Given the description of an element on the screen output the (x, y) to click on. 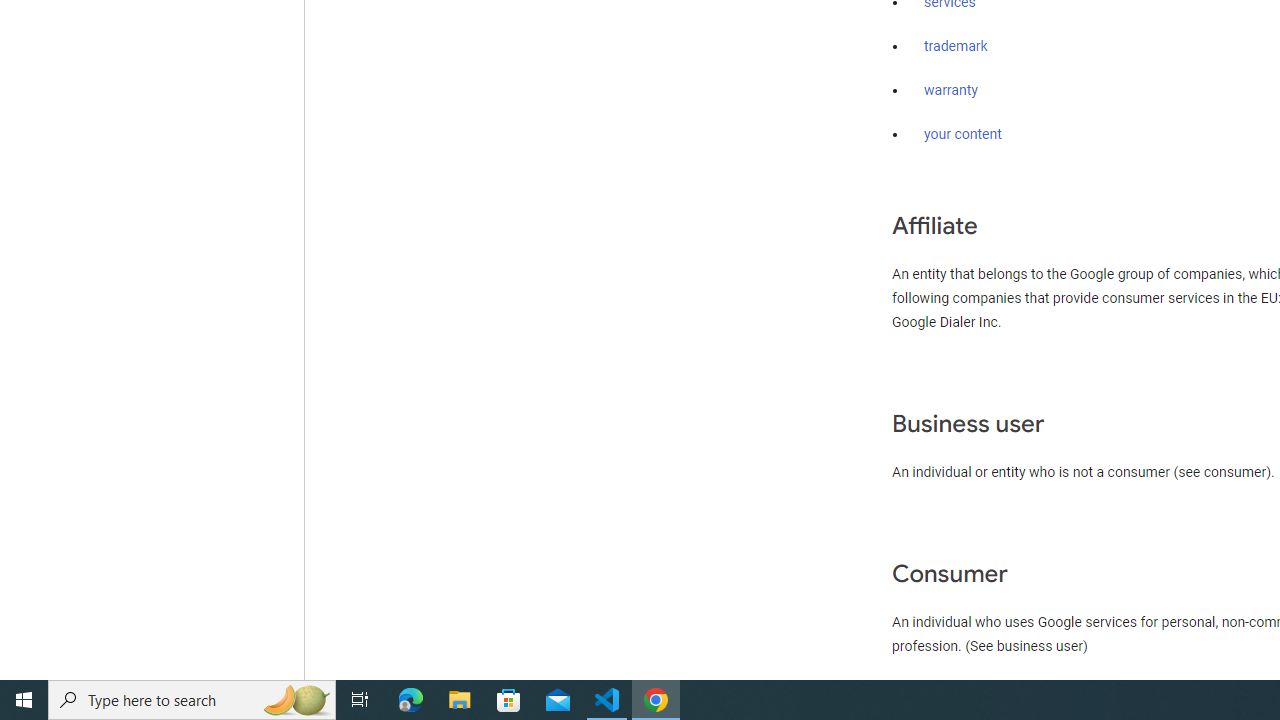
your content (963, 134)
warranty (950, 91)
trademark (956, 47)
